Given the description of an element on the screen output the (x, y) to click on. 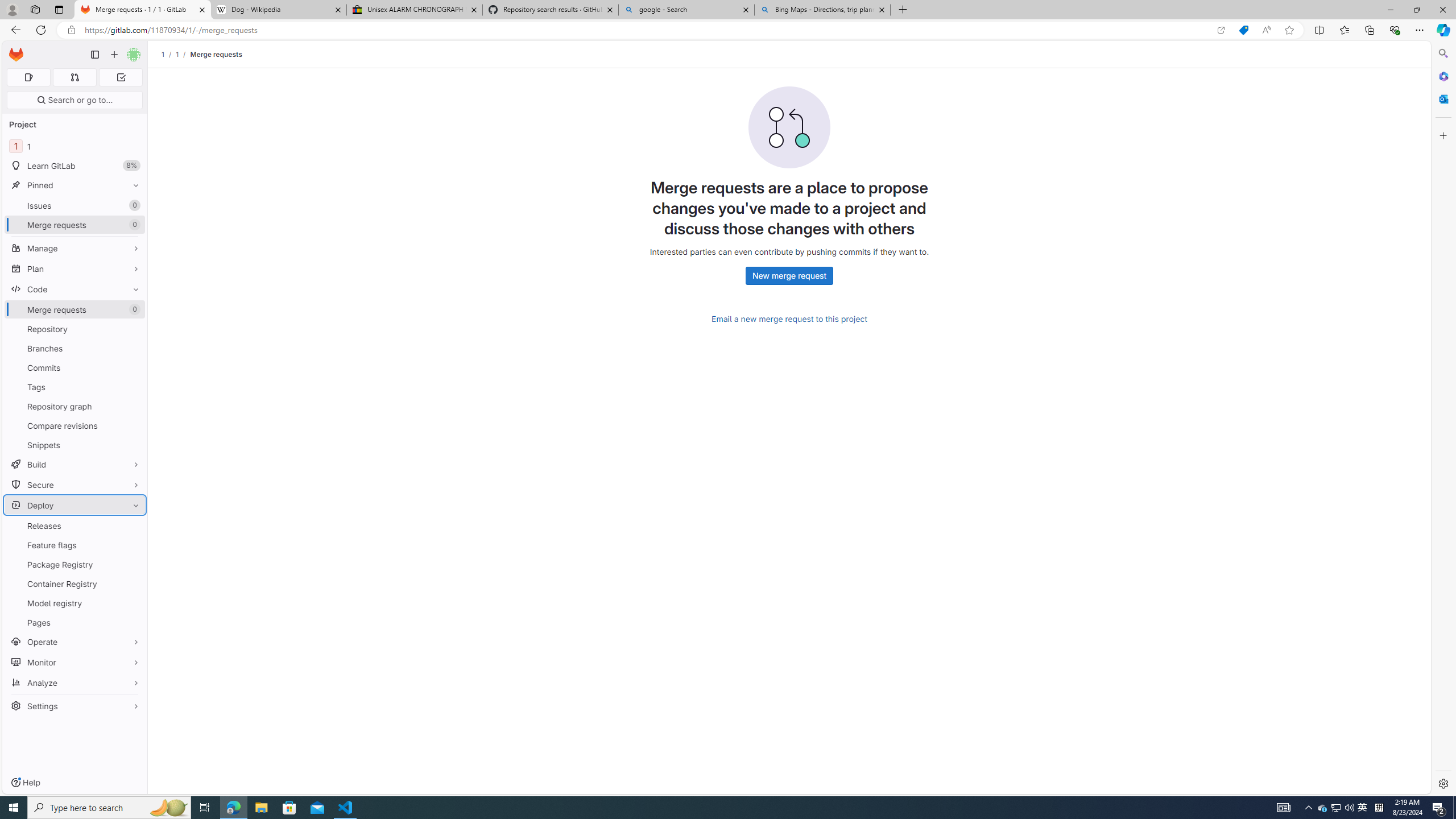
Pin Repository graph (132, 406)
Merge requests (215, 53)
1/ (183, 53)
Skip to main content (13, 49)
Model registry (74, 602)
Feature flags (74, 544)
Pin Feature flags (132, 545)
Model registry (74, 602)
Create new... (113, 54)
Repository (74, 328)
